Given the description of an element on the screen output the (x, y) to click on. 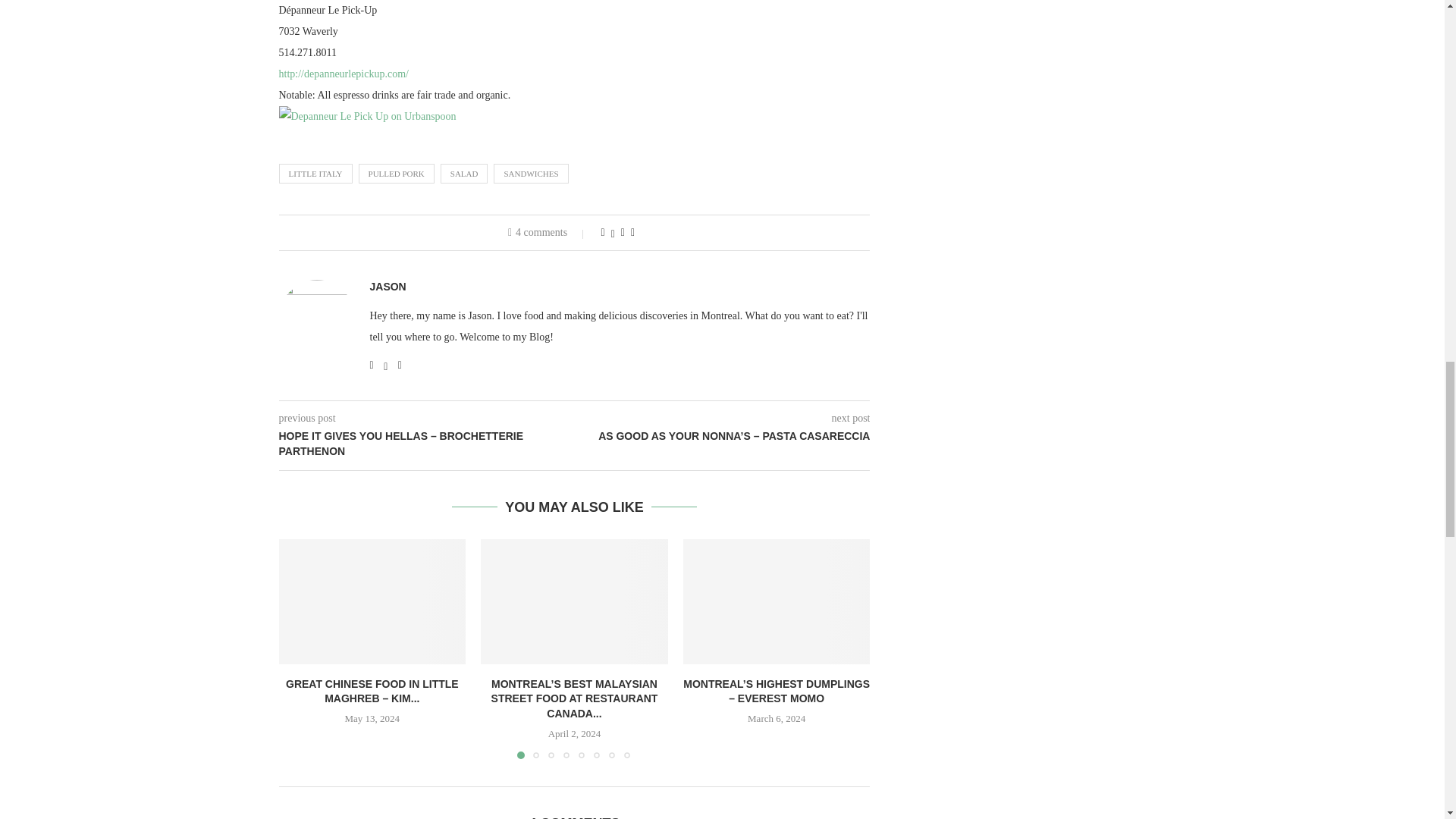
JASON (387, 287)
PULLED PORK (395, 173)
LITTLE ITALY (315, 173)
Author Jason (387, 287)
SALAD (464, 173)
SANDWICHES (530, 173)
